Given the description of an element on the screen output the (x, y) to click on. 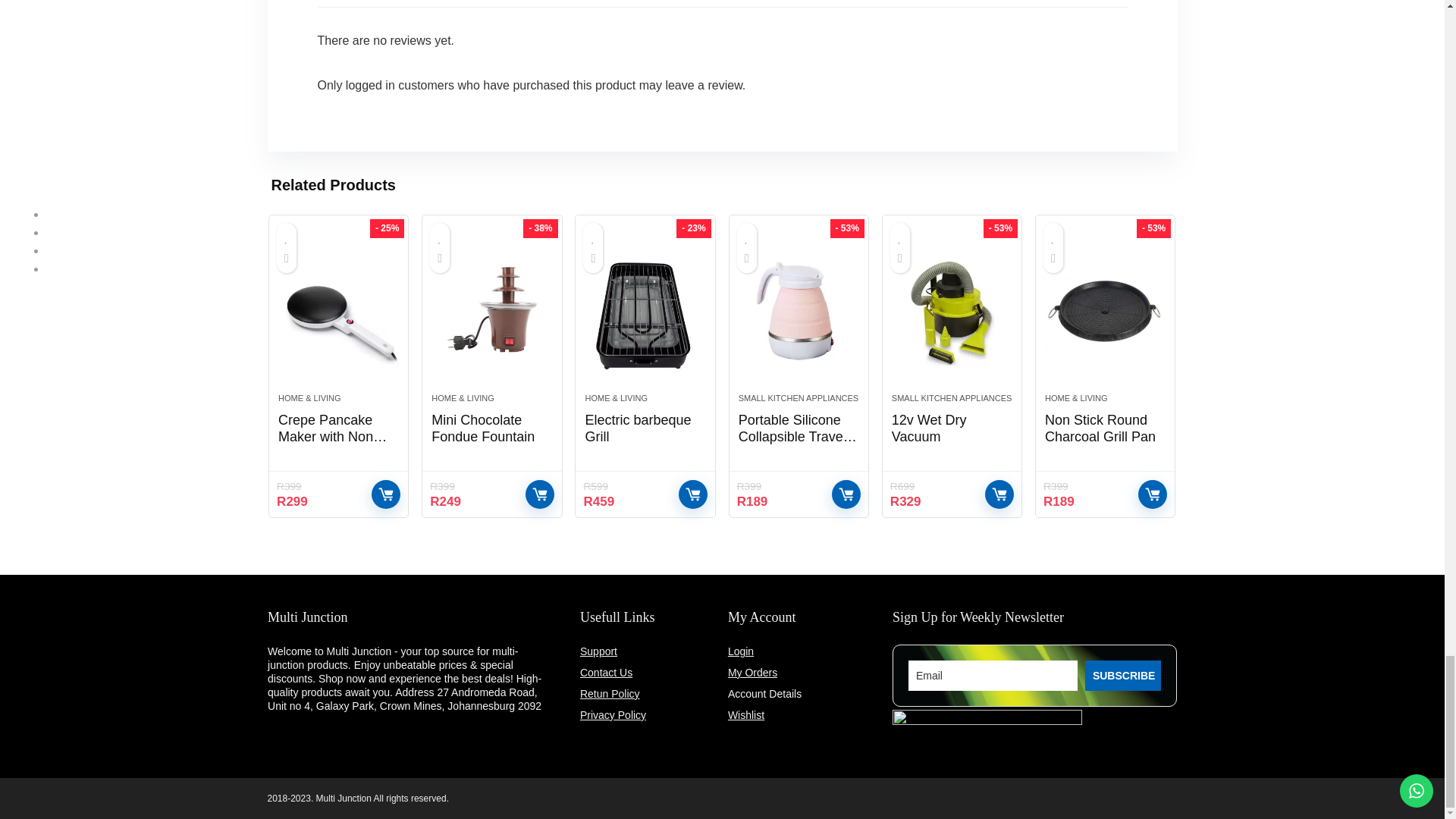
ADD TO CART (385, 493)
Crepe Pancake Maker with Non Stick Surface (338, 311)
Mini Chocolate Fondue Fountain (490, 311)
Non Stick Round Charcoal Grill Pan (1105, 311)
12v Wet Dry Vacuum (951, 311)
Portable Silicone Collapsible Travel Electric Kettle Pink (798, 311)
Crepe Pancake Maker with Non Stick Surface (332, 436)
Electric barbeque Grill (644, 311)
